Given the description of an element on the screen output the (x, y) to click on. 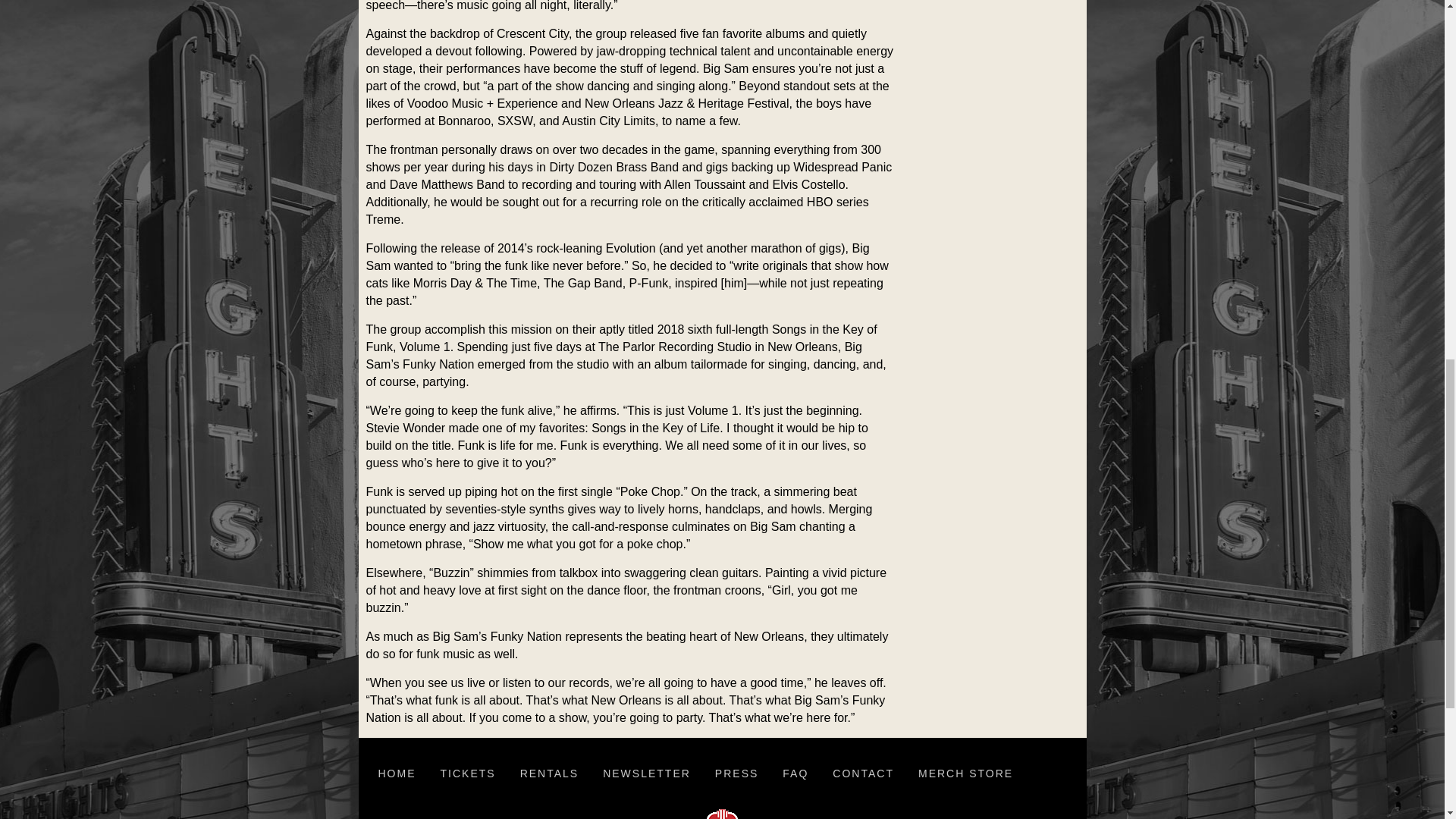
TICKETS (467, 773)
MERCH STORE (965, 773)
HOME (396, 773)
NEWSLETTER (647, 773)
CONTACT (863, 773)
RENTALS (549, 773)
FAQ (795, 773)
PRESS (736, 773)
